Given the description of an element on the screen output the (x, y) to click on. 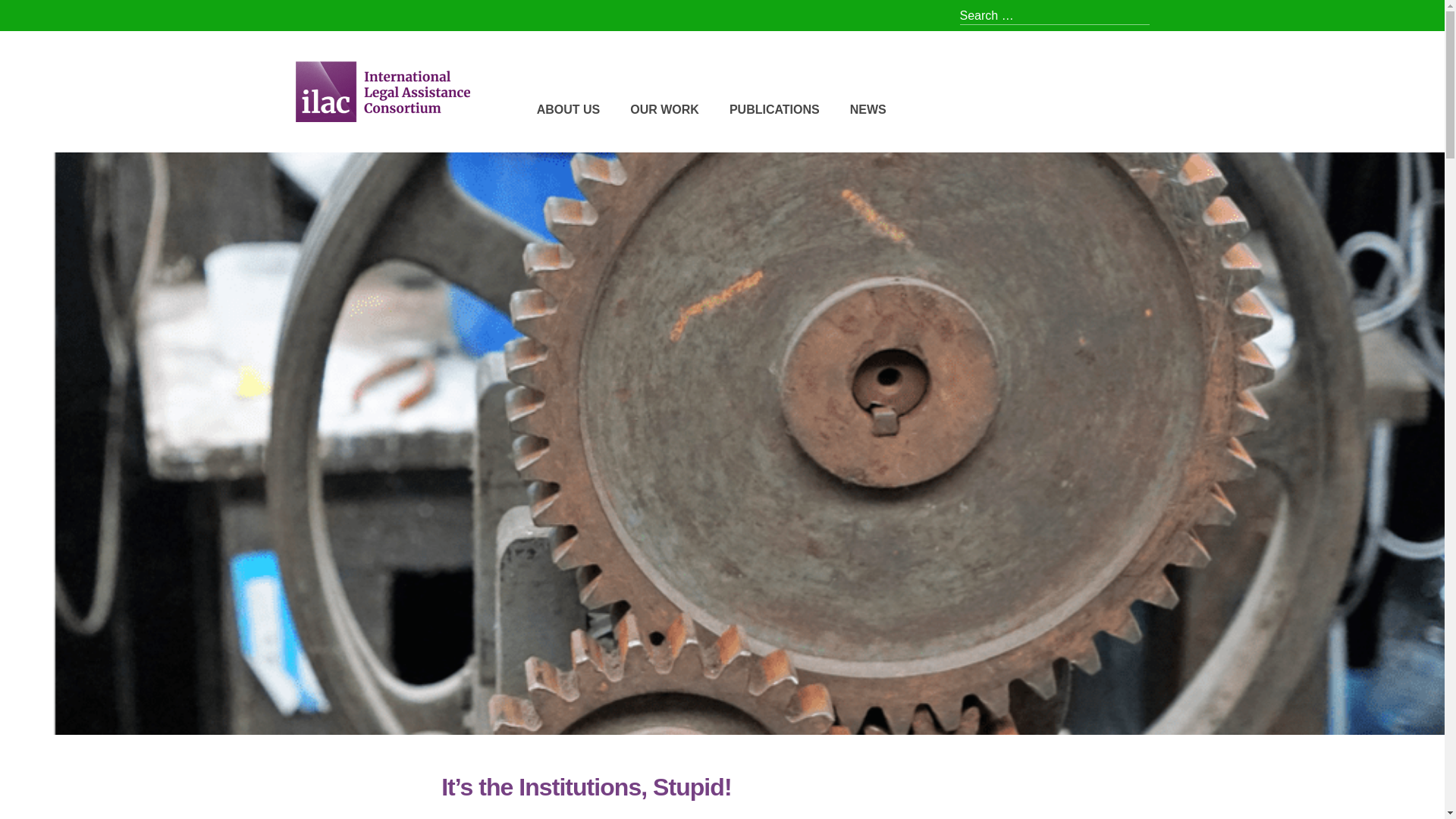
International Legal Assistance Consortium (483, 144)
ABOUT US (568, 109)
Search (32, 16)
PUBLICATIONS (774, 109)
OUR WORK (664, 109)
NEWS (868, 109)
